Given the description of an element on the screen output the (x, y) to click on. 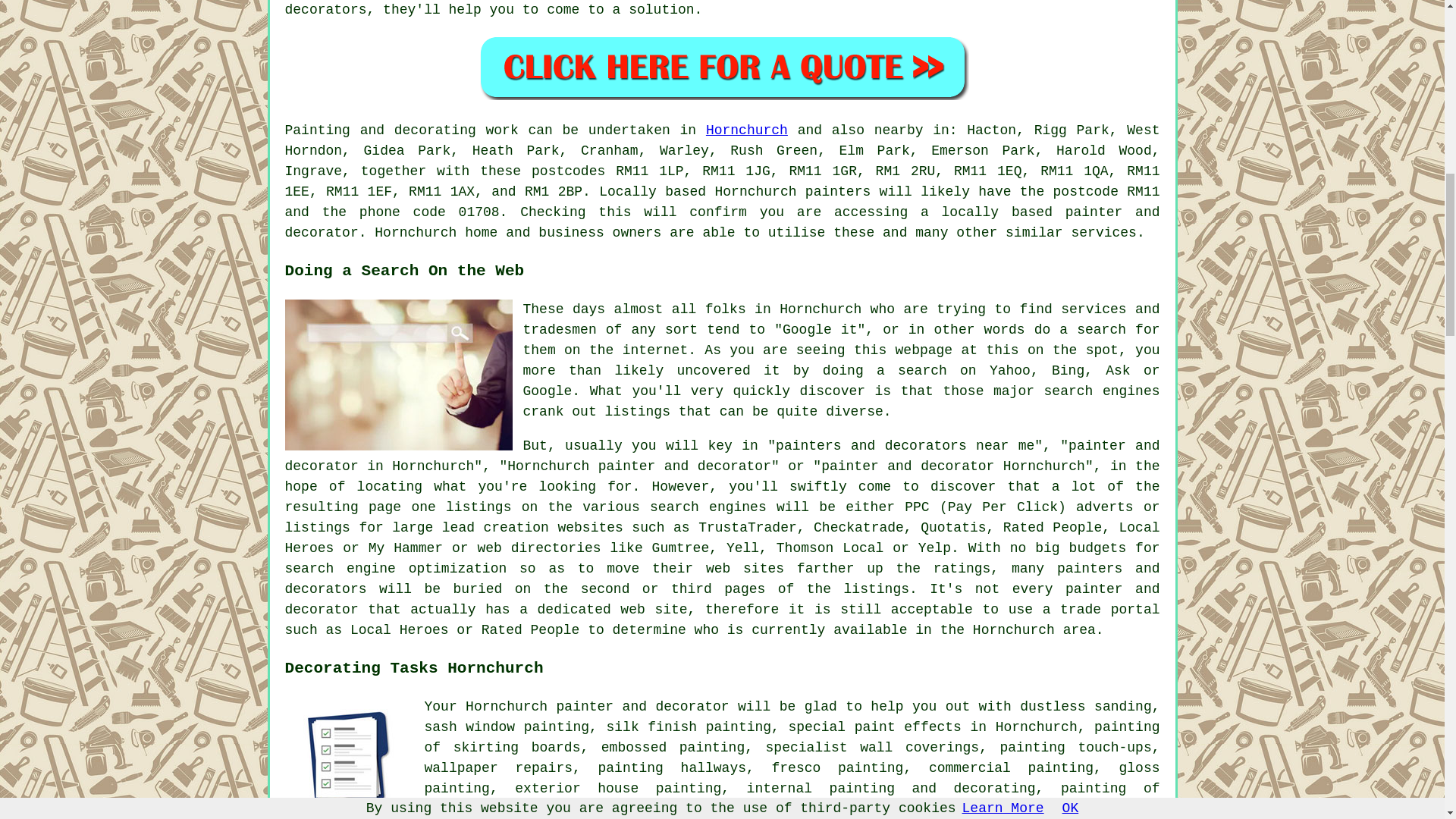
Painting (317, 130)
painter and decorator (722, 222)
Search Engine Results Painters and Decorators Hornchurch (398, 374)
painter and decorator (642, 706)
painters (837, 191)
Hornchurch Painter and Decorator Quotes (722, 66)
Painting and Decorating Tasks Hornchurch (349, 757)
